Given the description of an element on the screen output the (x, y) to click on. 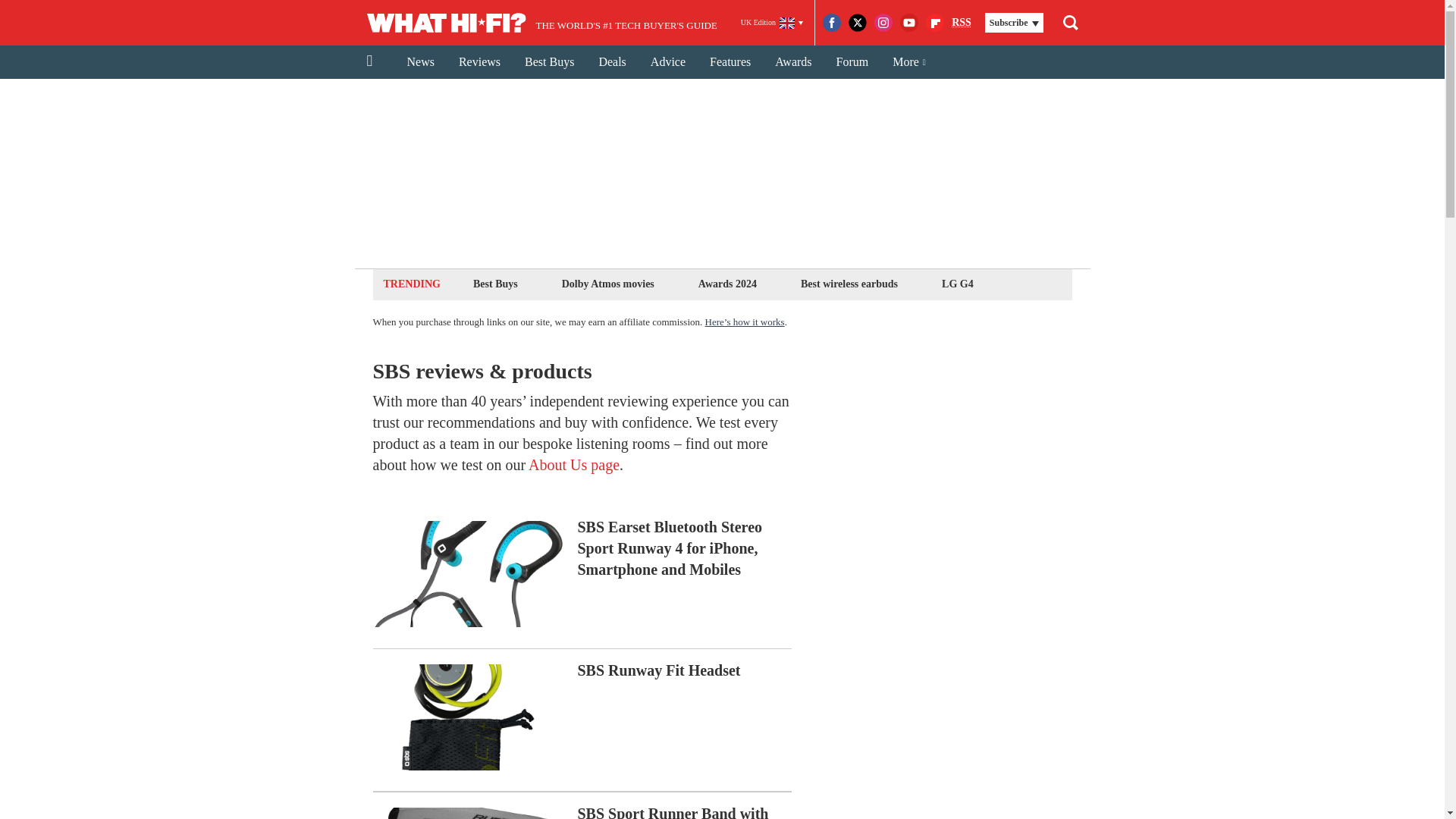
Reviews (479, 61)
Dolby Atmos movies (607, 283)
Advice (668, 61)
Best wireless earbuds (848, 283)
Deals (611, 61)
Awards 2024 (727, 283)
Awards (793, 61)
News (419, 61)
UK Edition (771, 22)
Best Buys (494, 283)
Best Buys (549, 61)
About Us page (574, 464)
Features (729, 61)
Forum (852, 61)
